Given the description of an element on the screen output the (x, y) to click on. 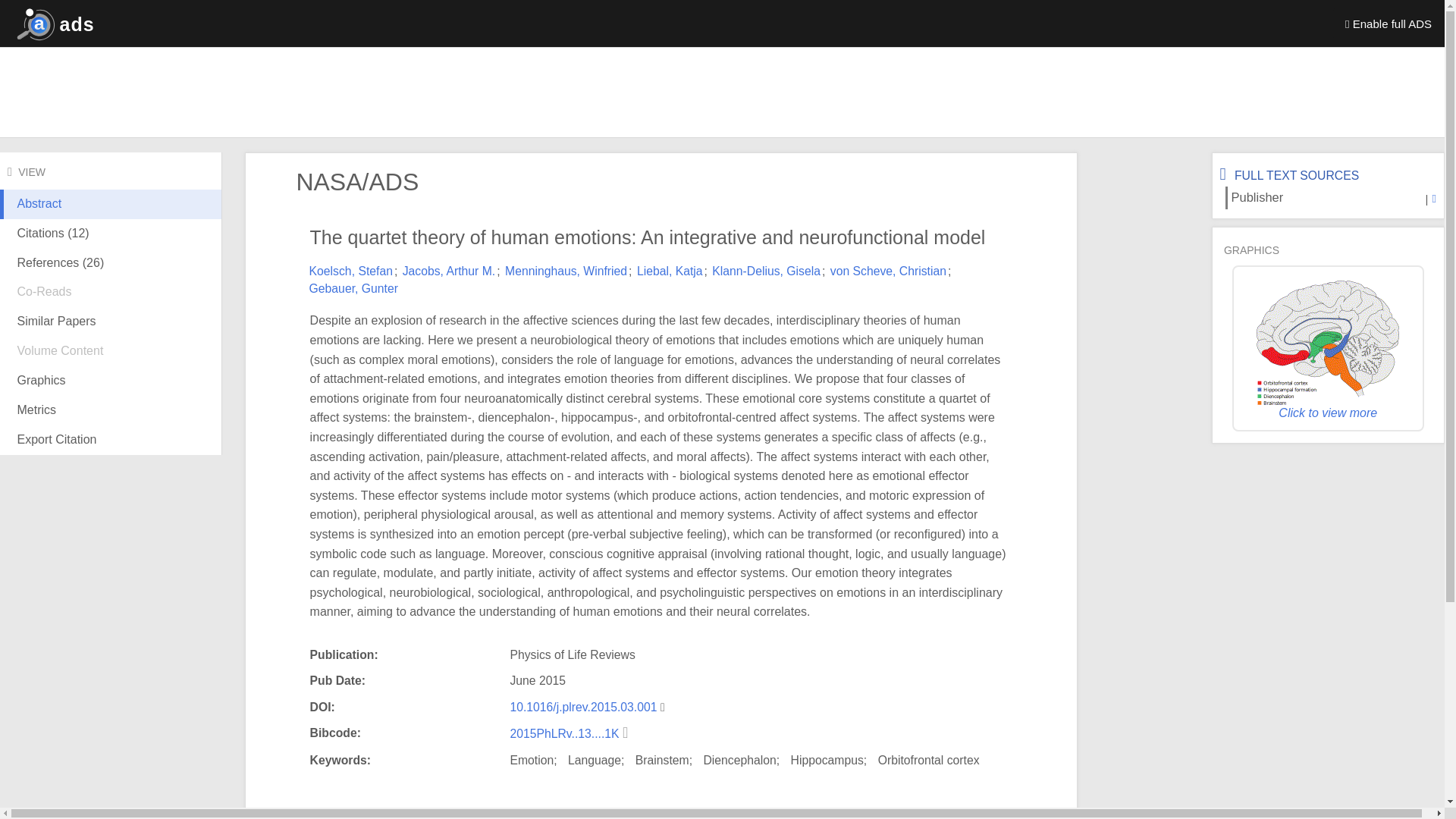
Menninghaus, Winfried (566, 270)
Gebauer, Gunter (352, 287)
Jacobs, Arthur M. (449, 270)
Click to view more (1327, 351)
Graphics (110, 380)
Export Citation (110, 440)
ads (51, 22)
Liebal, Katja (670, 270)
Enable full ADS (1388, 23)
2015PhLRv..13....1K (566, 733)
